Given the description of an element on the screen output the (x, y) to click on. 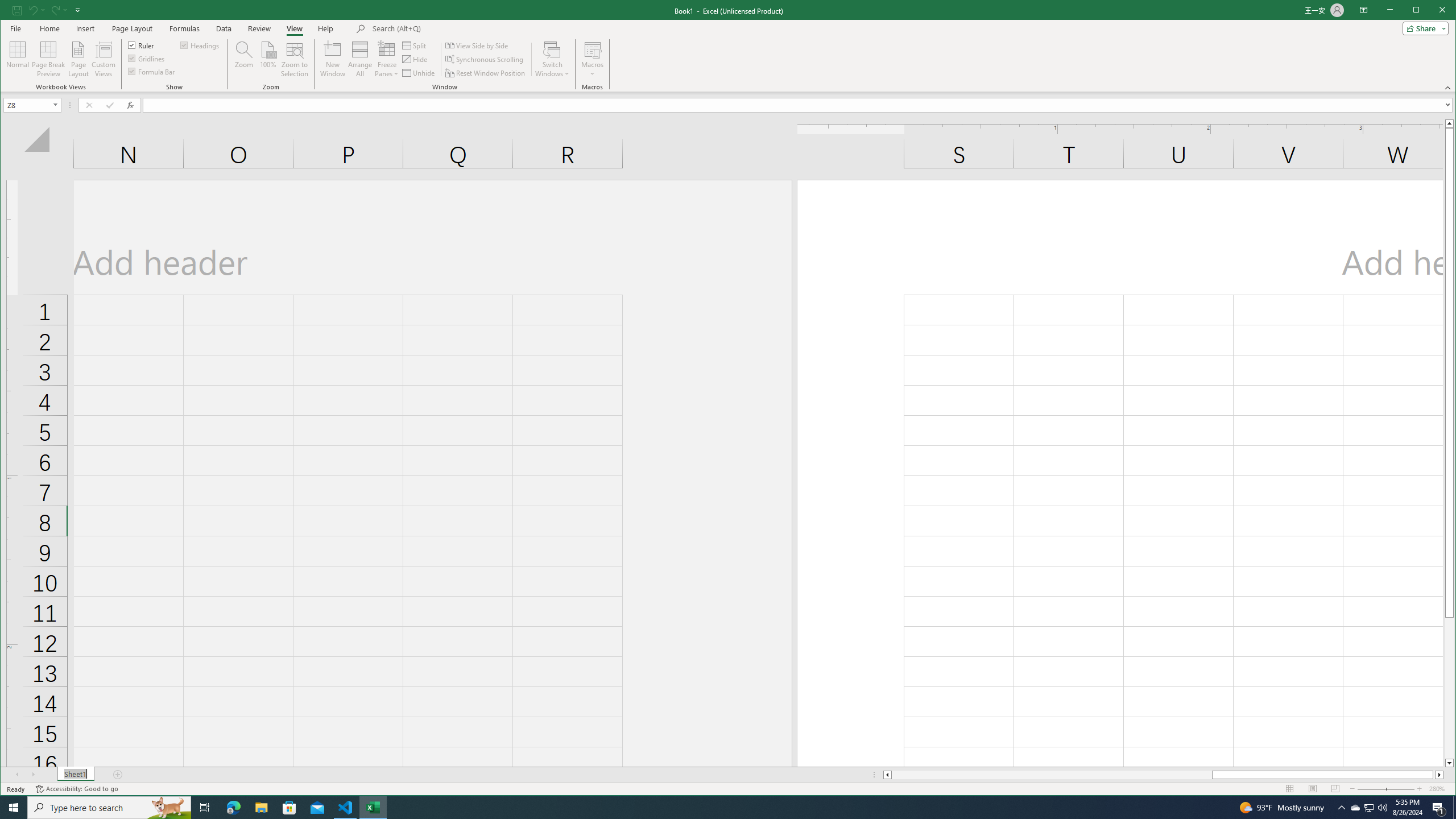
Synchronous Scrolling (485, 59)
Arrange All (360, 59)
Zoom to Selection (294, 59)
New Window (332, 59)
File Explorer (261, 807)
